Given the description of an element on the screen output the (x, y) to click on. 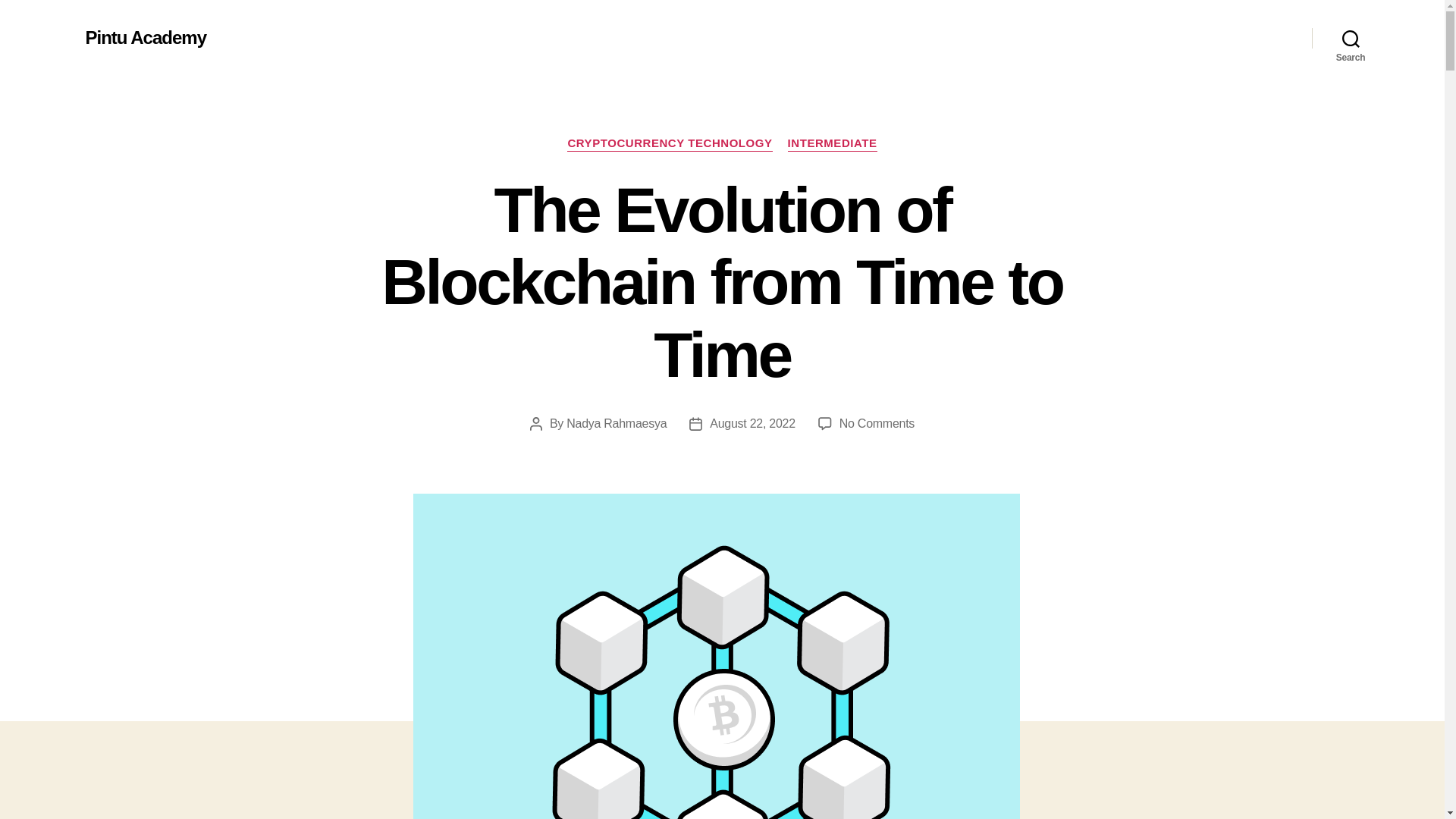
Pintu Academy (145, 37)
Nadya Rahmaesya (616, 422)
CRYPTOCURRENCY TECHNOLOGY (669, 143)
August 22, 2022 (877, 422)
Search (752, 422)
INTERMEDIATE (1350, 37)
